Given the description of an element on the screen output the (x, y) to click on. 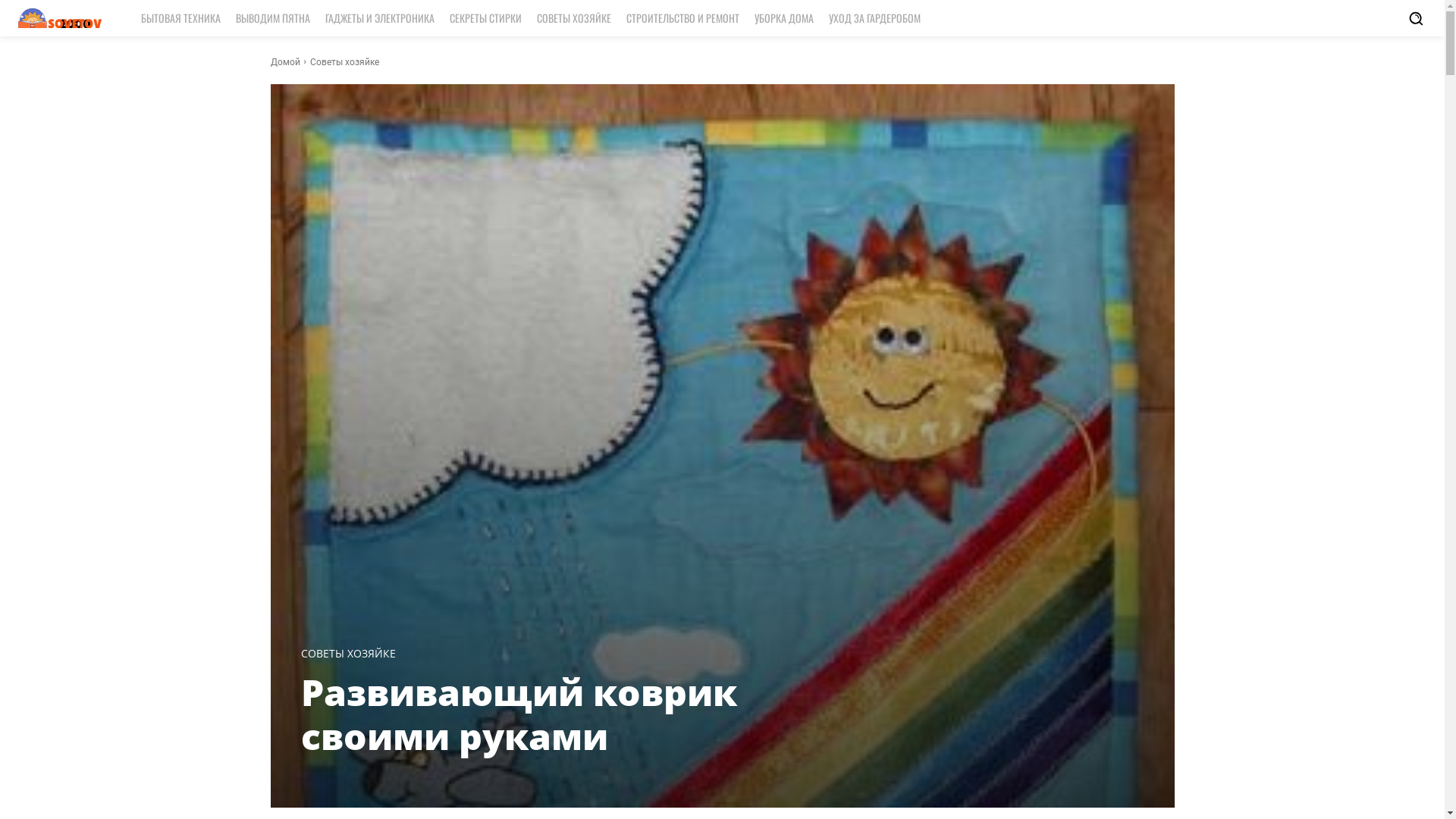
kovrik_01.jpg Element type: hover (721, 445)
